Given the description of an element on the screen output the (x, y) to click on. 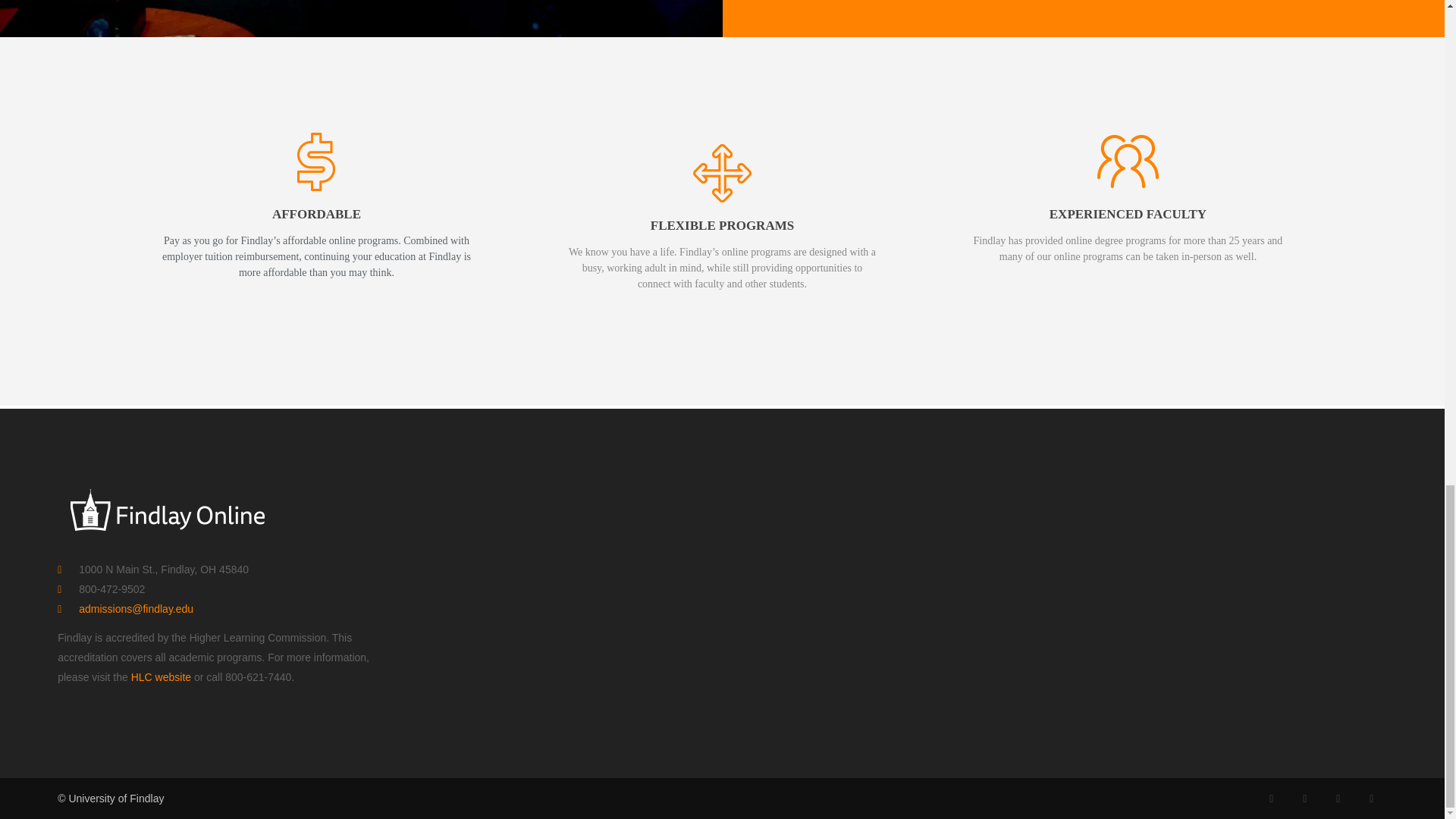
Faculty Icon (1127, 161)
Affordable Icon (316, 161)
Flexible Icon (722, 172)
HLC website (160, 676)
